Given the description of an element on the screen output the (x, y) to click on. 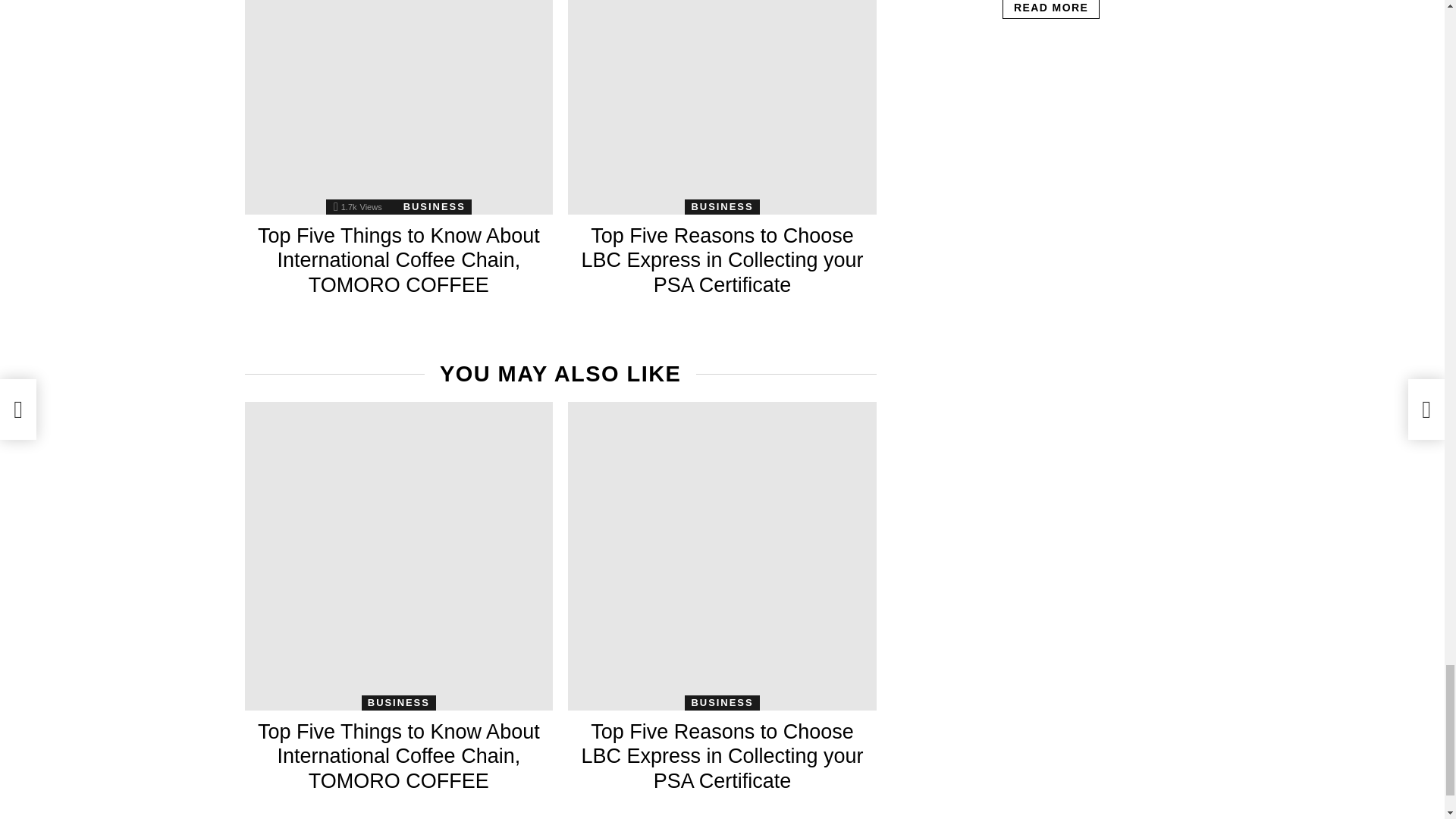
BUSINESS (721, 206)
BUSINESS (434, 206)
